Given the description of an element on the screen output the (x, y) to click on. 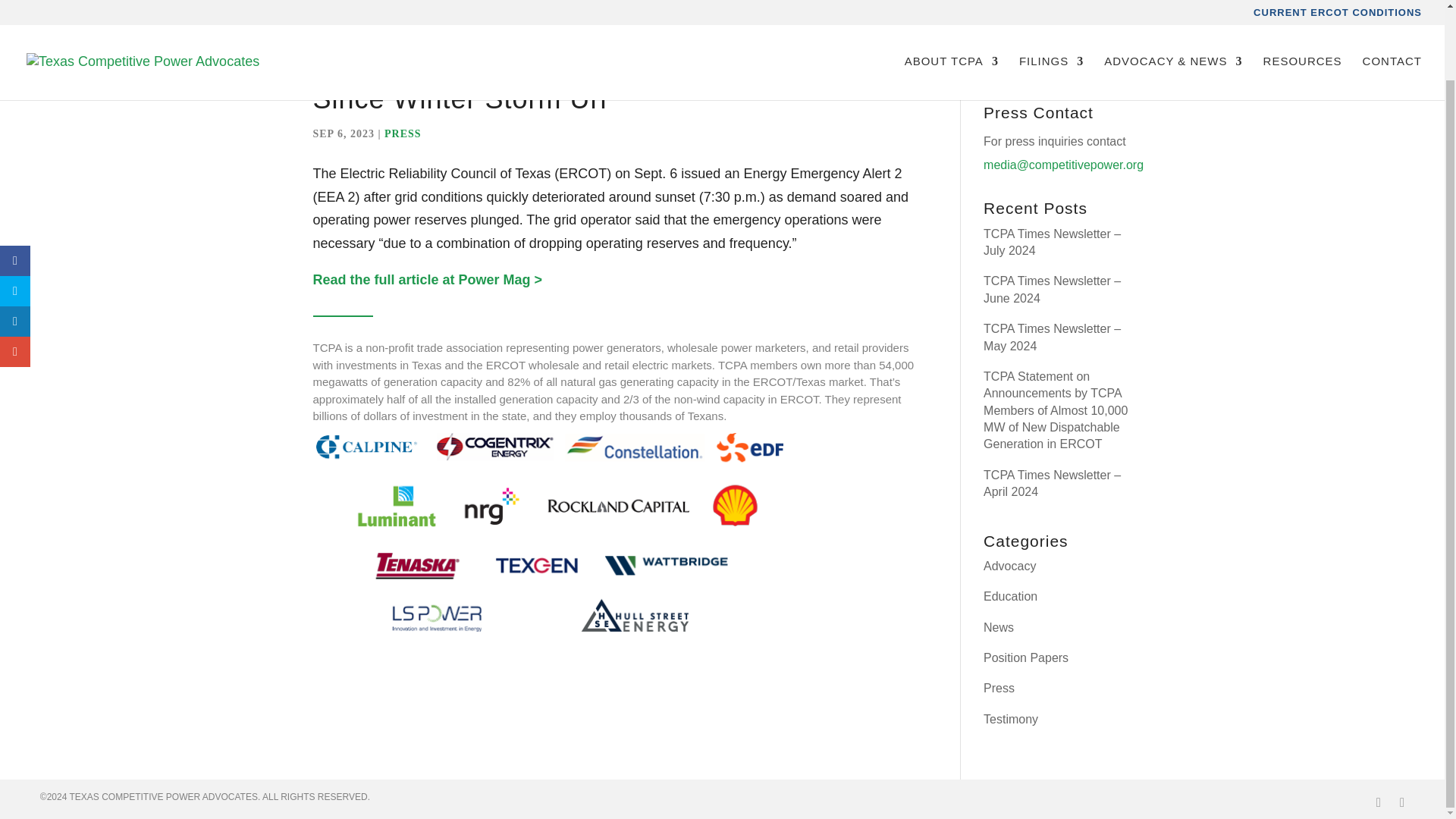
PRESS (403, 133)
Press (999, 687)
Advocacy (1009, 565)
Search (1104, 64)
Education (1010, 595)
RESOURCES (1302, 11)
CONTACT (1392, 11)
ABOUT TCPA (951, 11)
Testimony (1011, 718)
